Given the description of an element on the screen output the (x, y) to click on. 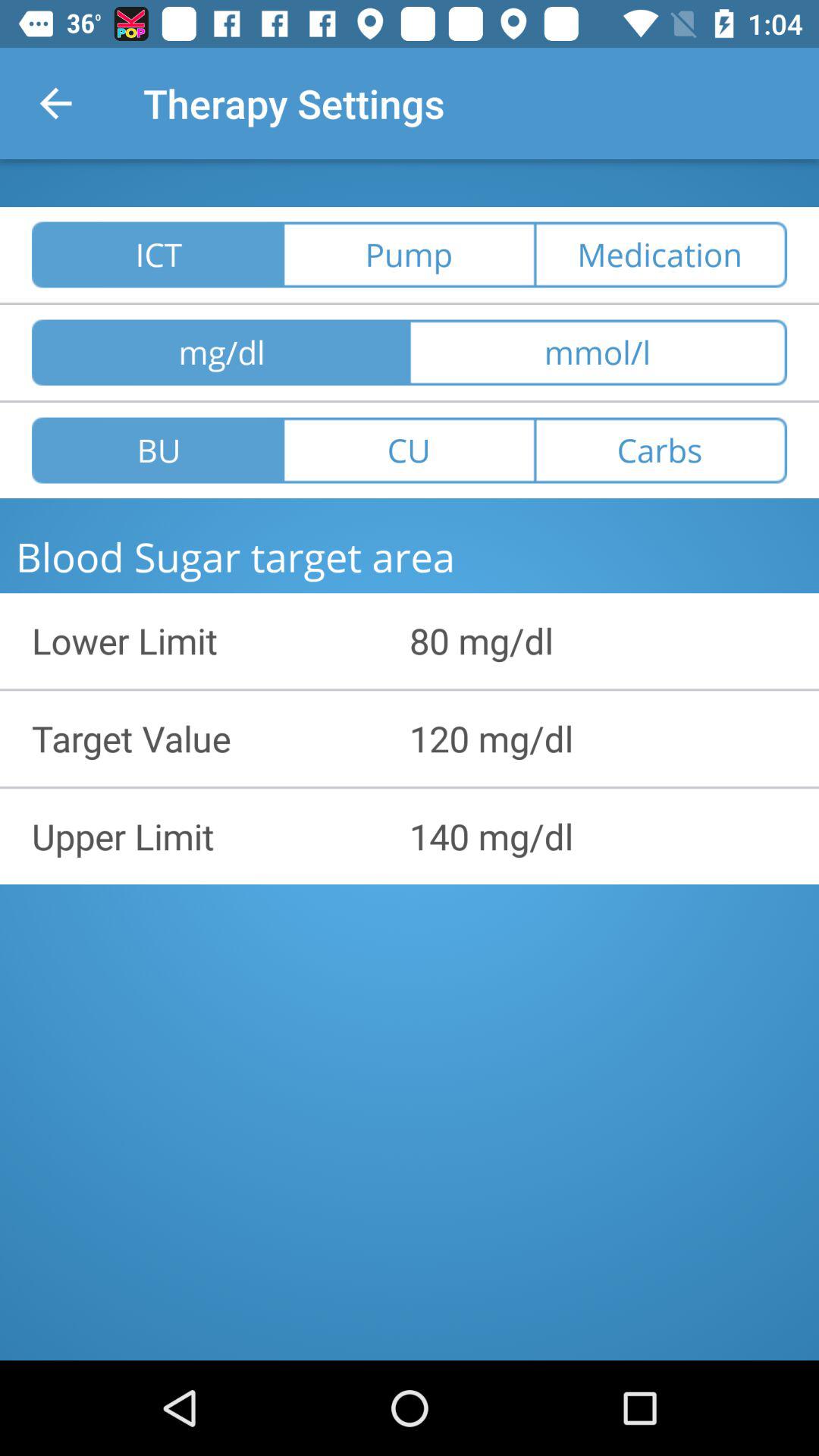
launch icon above blood sugar target item (661, 450)
